Given the description of an element on the screen output the (x, y) to click on. 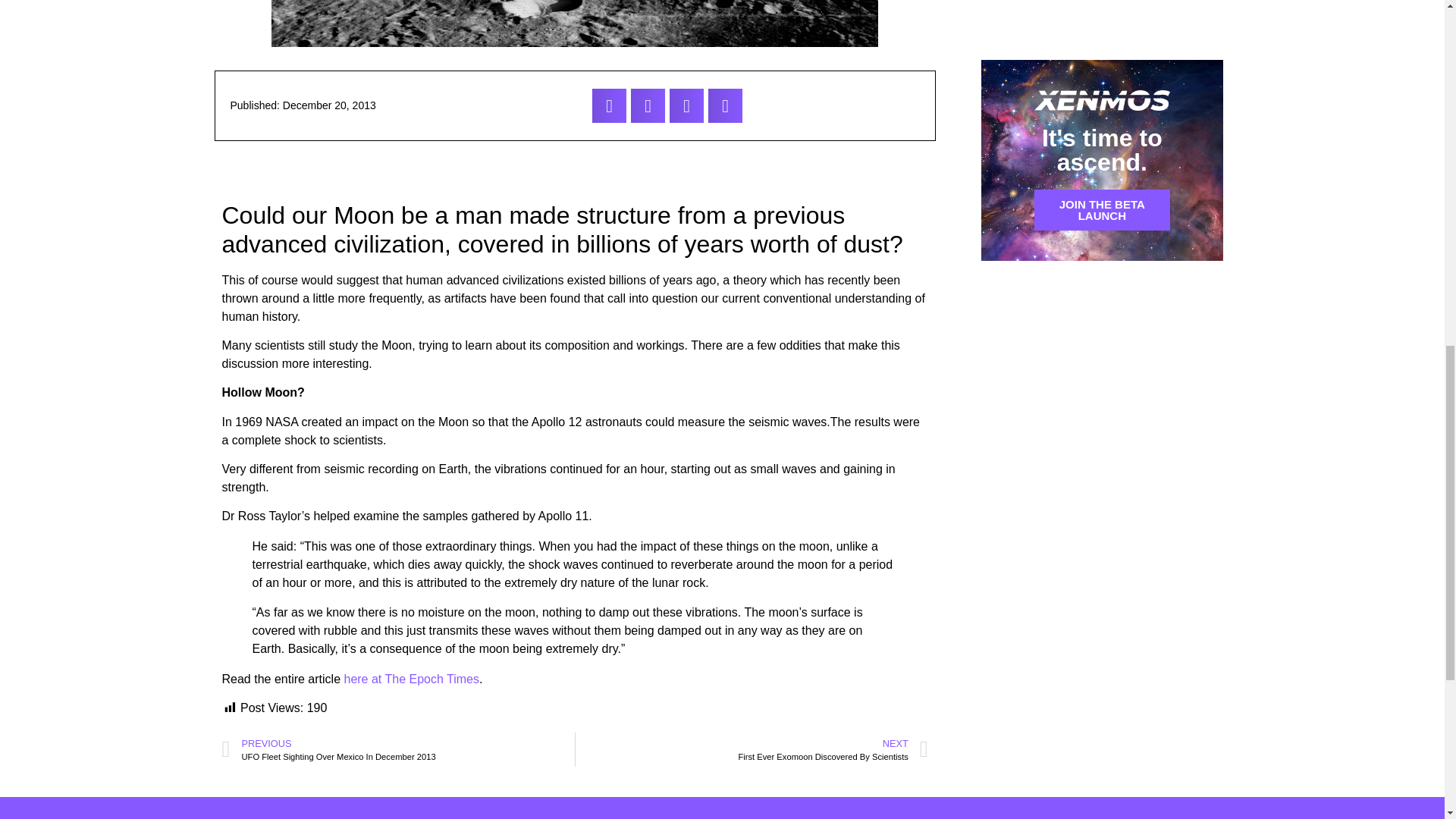
JOIN THE BETA LAUNCH (1101, 209)
Is Our Moon Hollow? (411, 678)
here at The Epoch Times (397, 749)
